Given the description of an element on the screen output the (x, y) to click on. 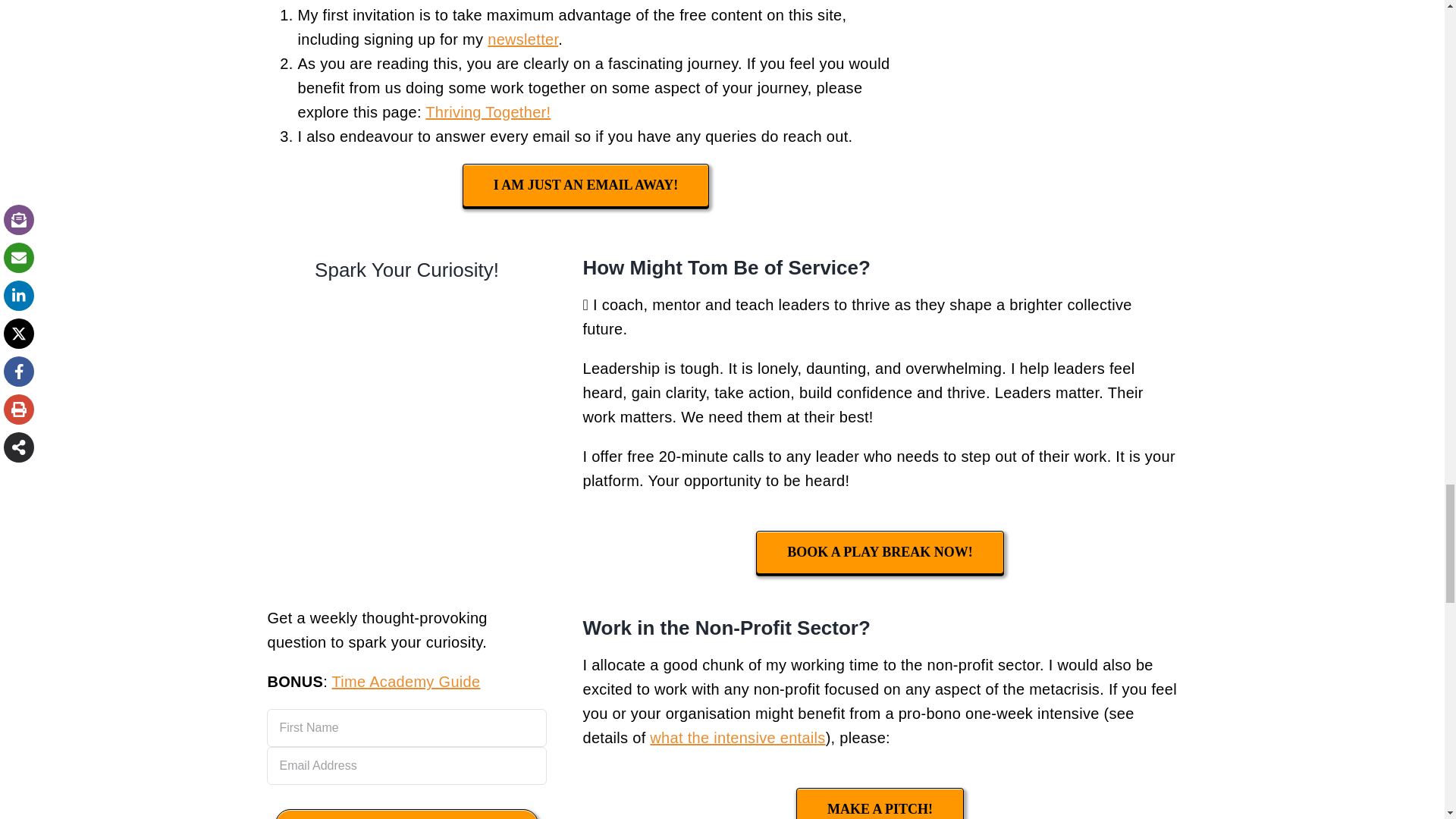
Get my Weekly Reminder! (406, 814)
Practice Emails Signup (406, 439)
